Given the description of an element on the screen output the (x, y) to click on. 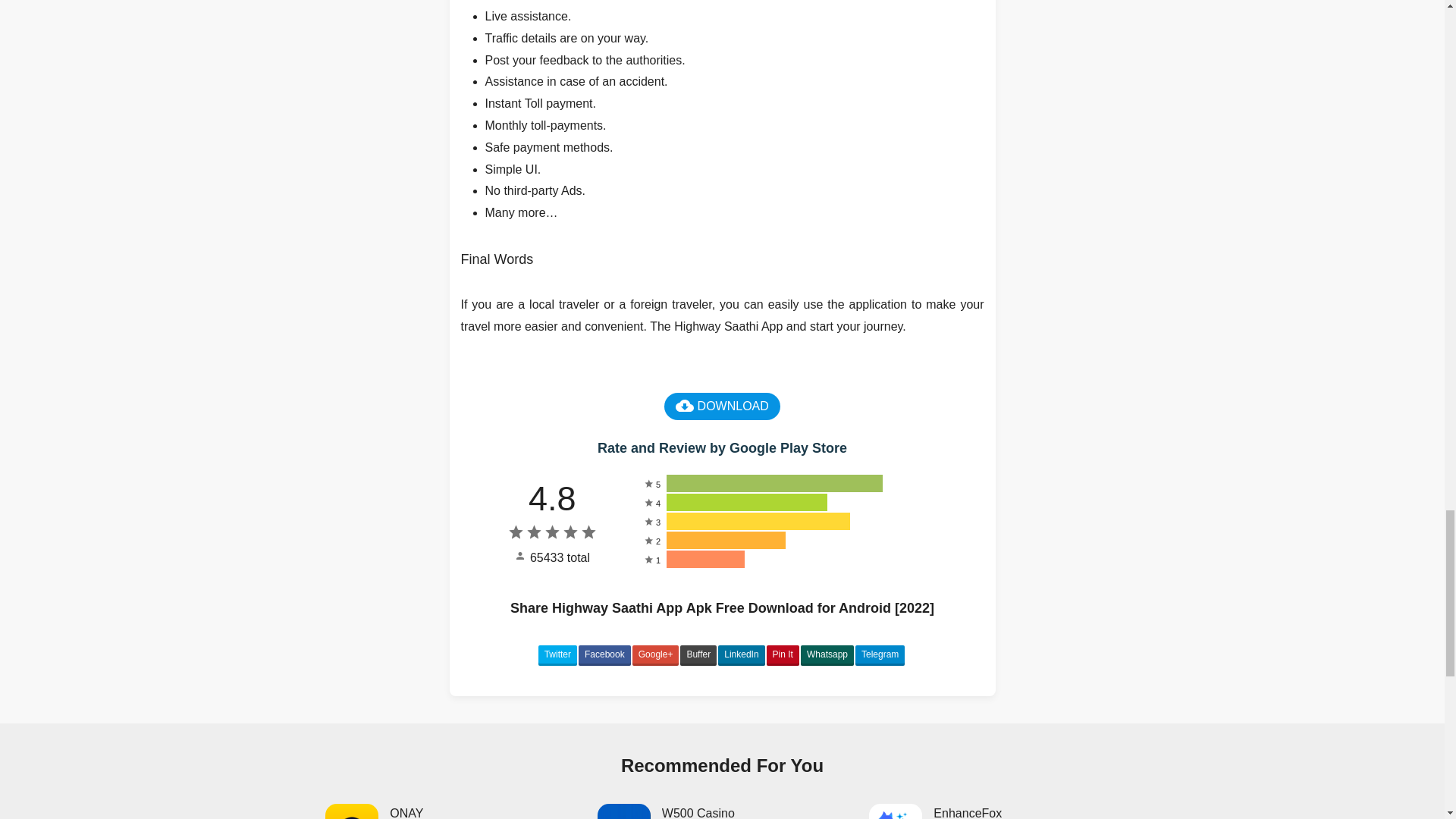
Facebook (449, 811)
Twitter (604, 655)
Pin It (993, 811)
Buffer (557, 655)
LinkedIn (783, 655)
DOWNLOAD (721, 811)
Telegram (697, 655)
Whatsapp (740, 655)
